Given the description of an element on the screen output the (x, y) to click on. 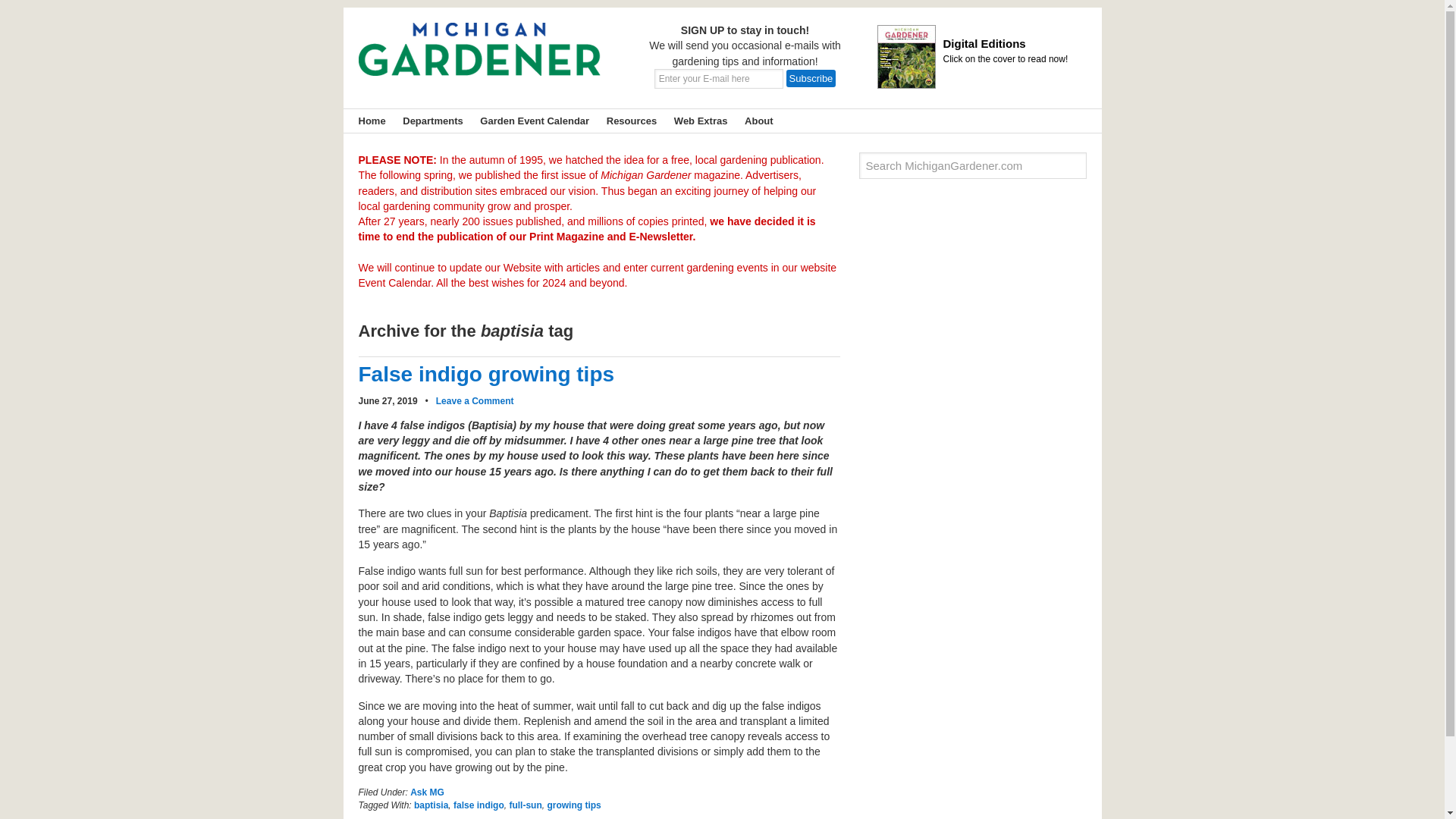
Web Extras (696, 120)
Departments (428, 120)
Michigan Gardener (478, 60)
Ask MG (427, 792)
Home (367, 120)
false indigo (477, 805)
baptisia (430, 805)
Resources (627, 120)
Garden Event Calendar (530, 120)
full-sun (524, 805)
